Given the description of an element on the screen output the (x, y) to click on. 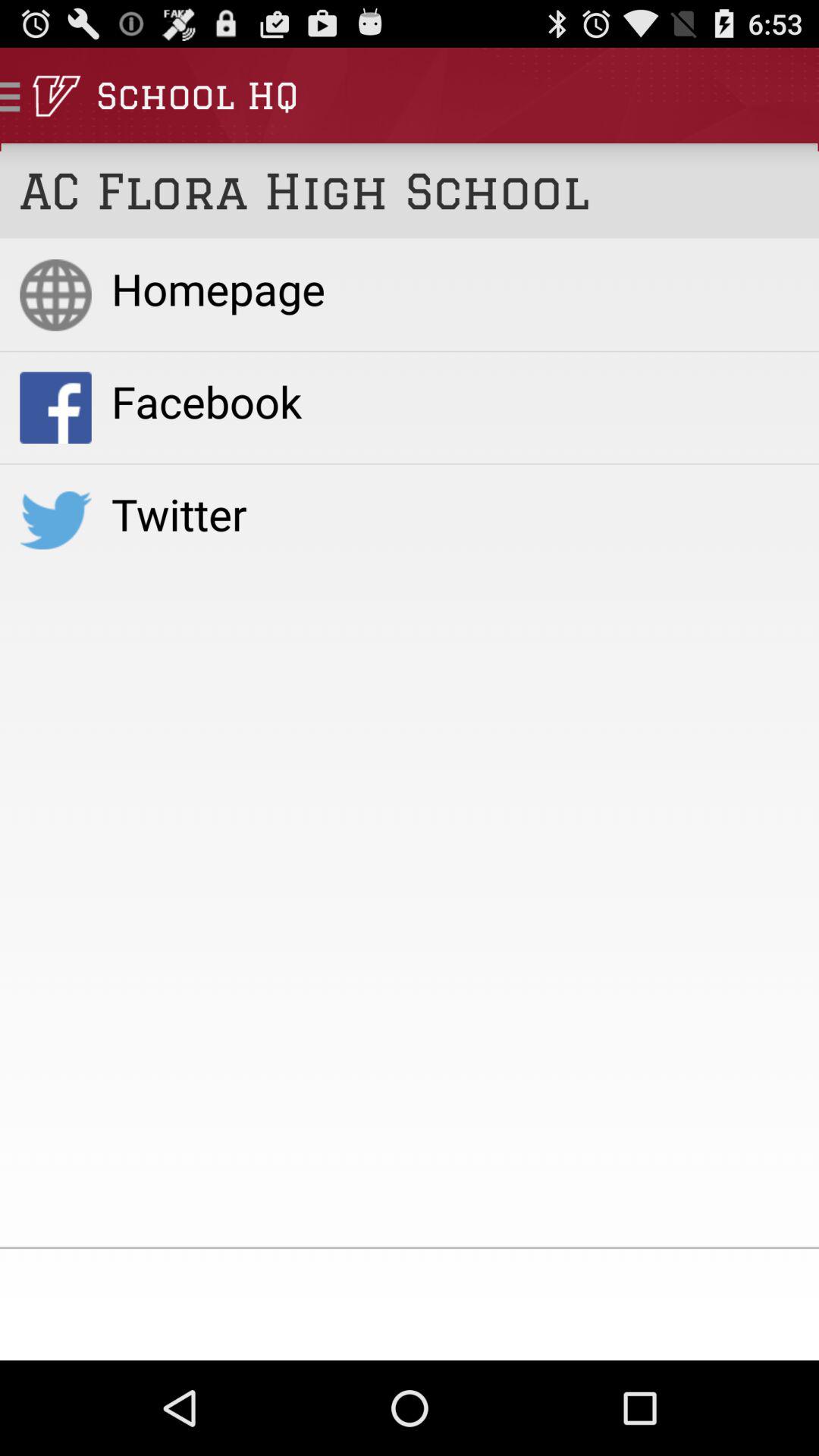
scroll until the ac flora high icon (409, 190)
